Given the description of an element on the screen output the (x, y) to click on. 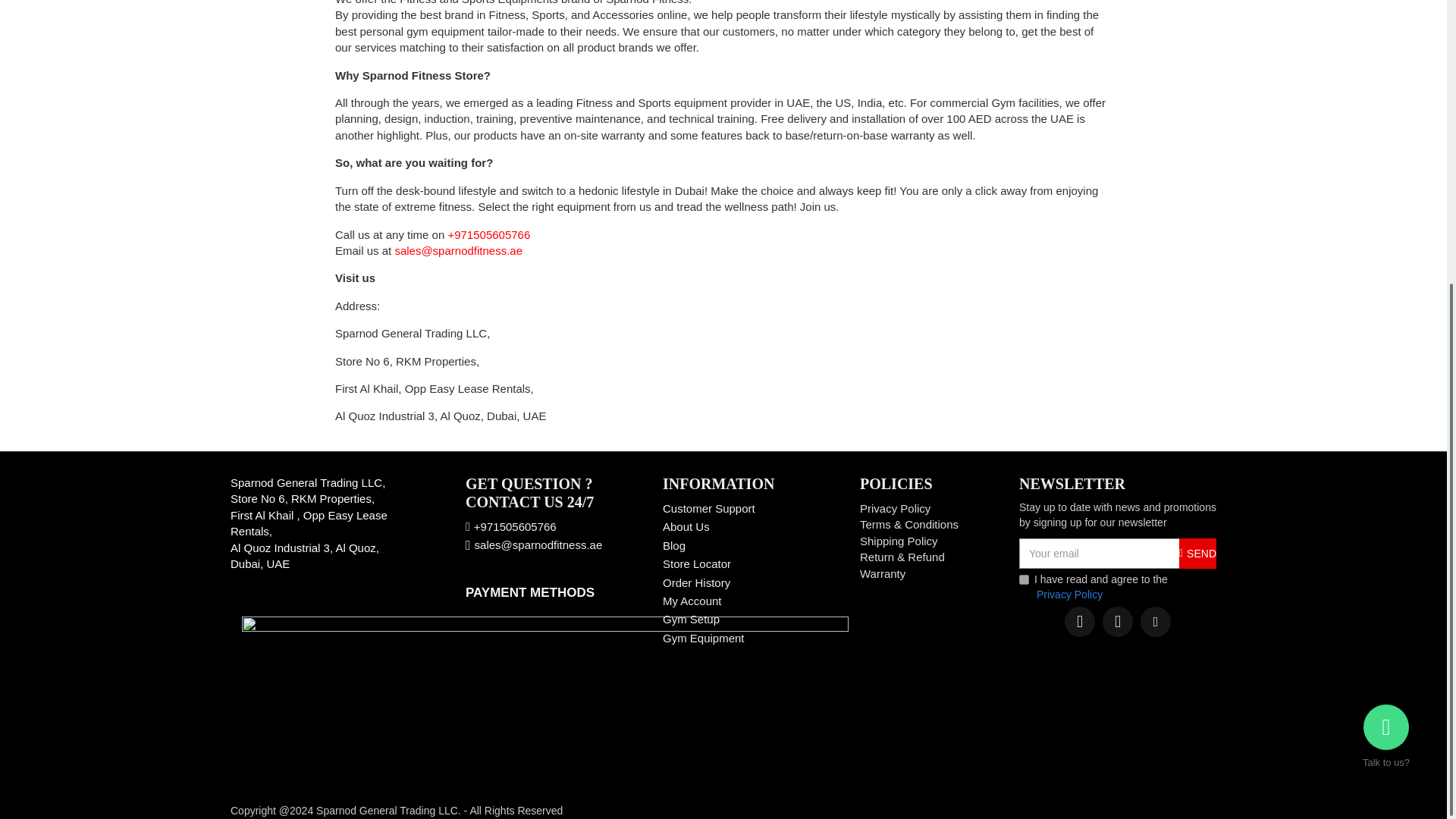
Facebook (1079, 621)
1 (1024, 579)
Instagram (1155, 621)
Twitter (1117, 621)
